Given the description of an element on the screen output the (x, y) to click on. 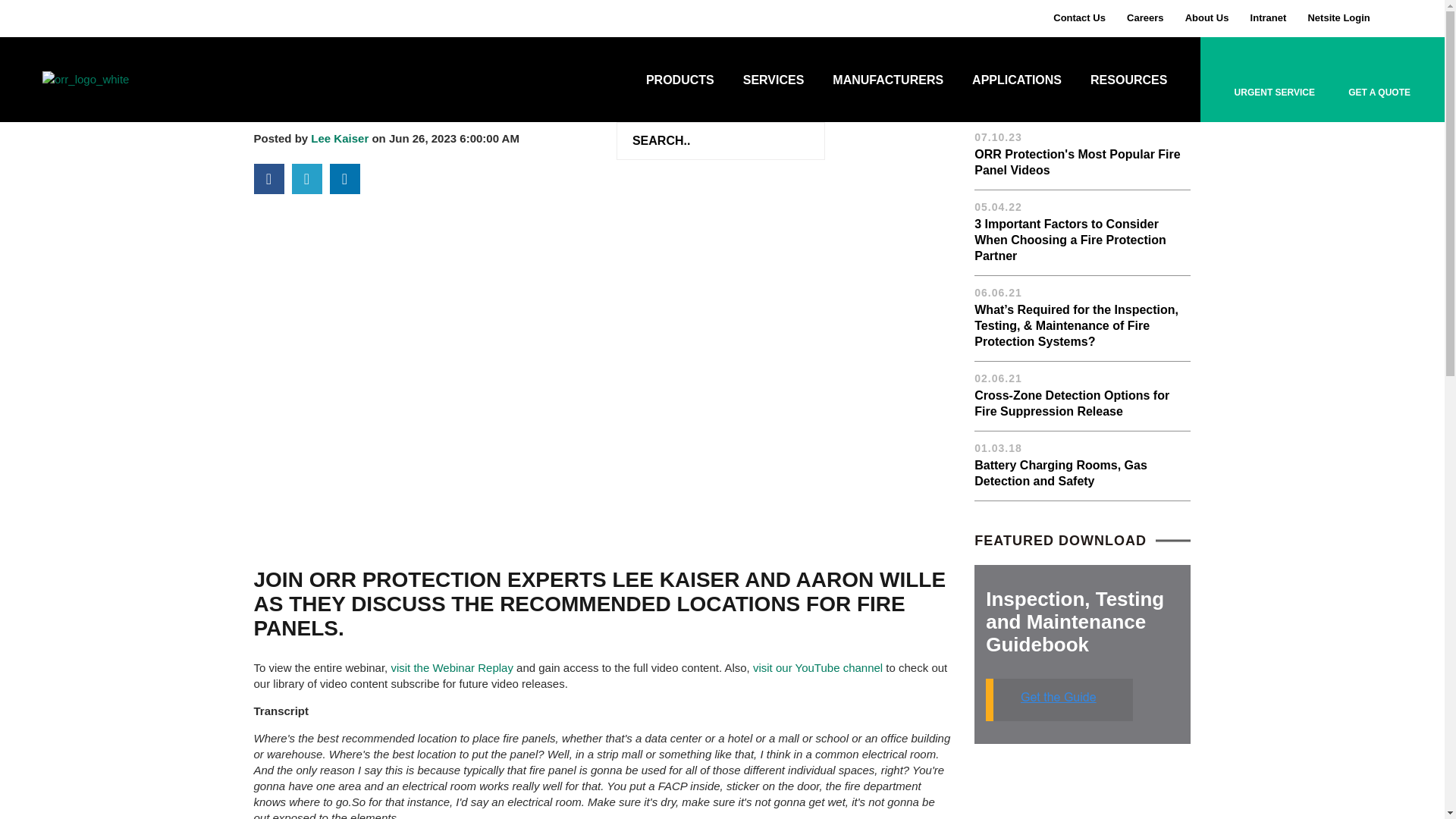
Share on Facebook (268, 178)
Careers (1144, 17)
About Us (1206, 17)
Contact Us (1078, 17)
Share on LinkedIn (344, 178)
Netsite Login (1338, 17)
Tweet (306, 178)
Intranet (1268, 17)
